Given the description of an element on the screen output the (x, y) to click on. 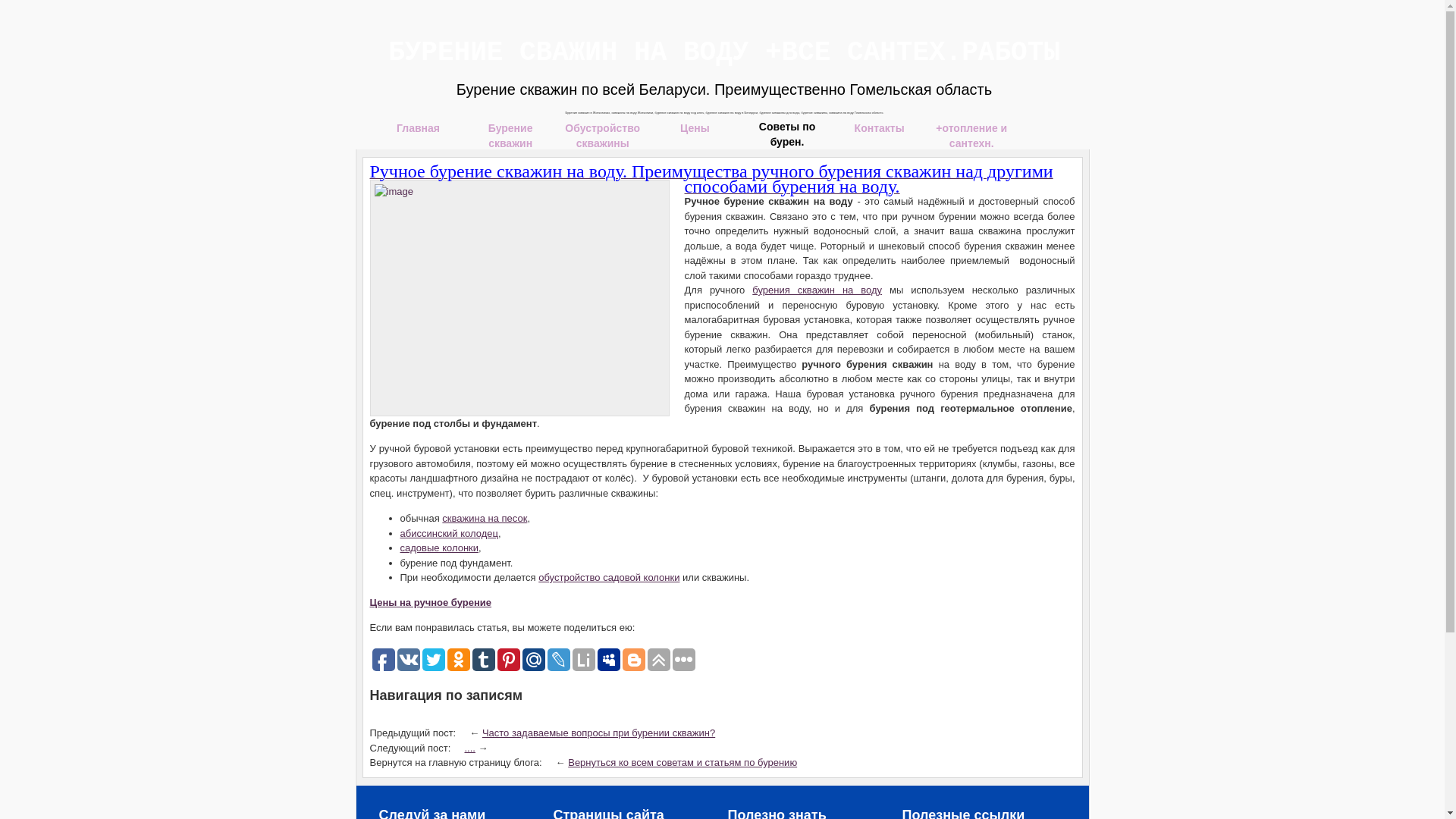
.... Element type: text (469, 747)
